Given the description of an element on the screen output the (x, y) to click on. 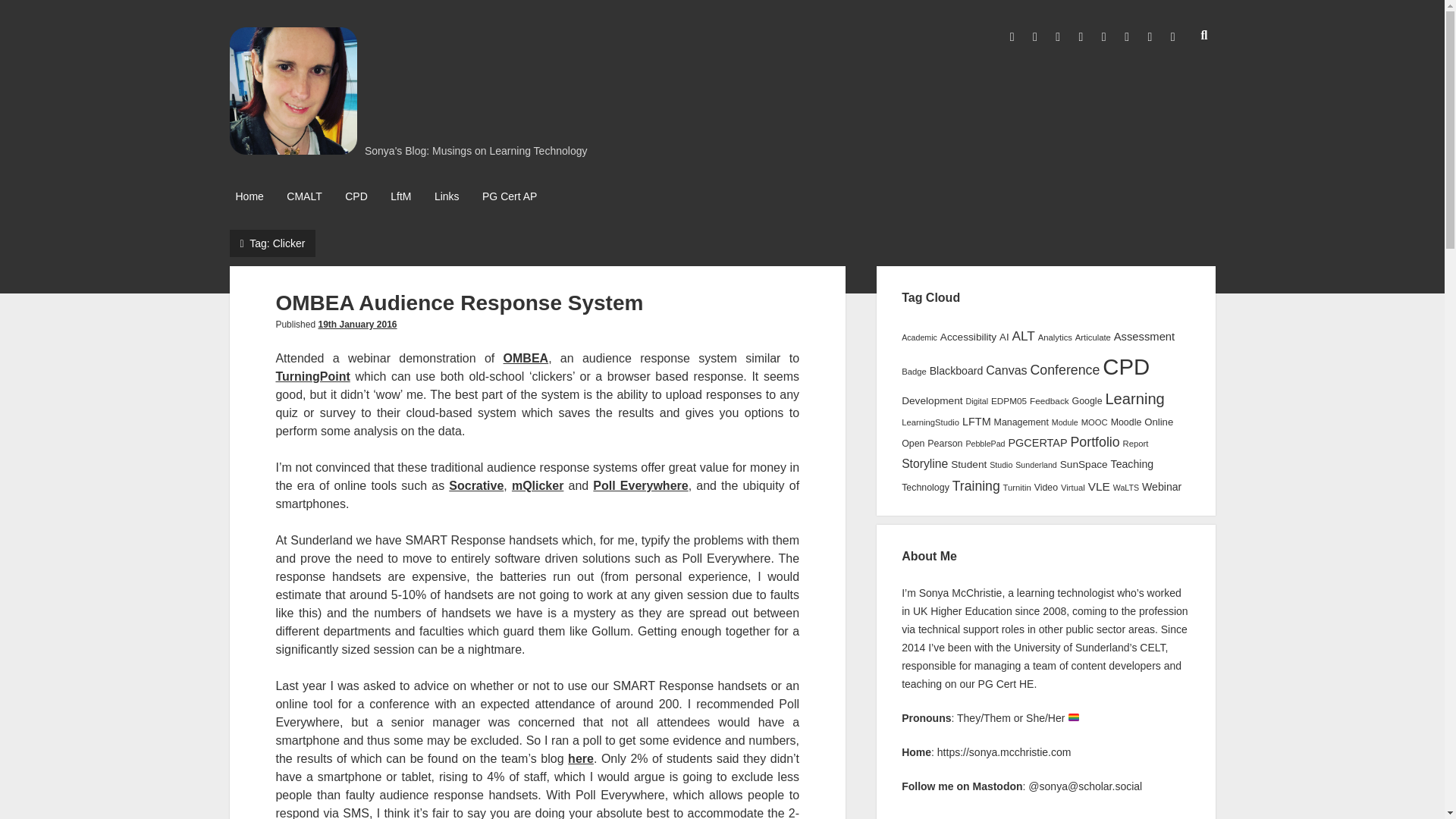
CPD (1126, 366)
Sonya's Blog (292, 149)
TurningPoint (312, 376)
19th January 2016 (356, 324)
Links (446, 197)
CMALT (304, 197)
ALT (1022, 335)
LftM (400, 197)
Analytics (1054, 337)
Articulate (1092, 337)
here (580, 758)
mQlicker (537, 485)
Academic (919, 337)
PG Cert AP (509, 197)
Conference (1064, 369)
